Given the description of an element on the screen output the (x, y) to click on. 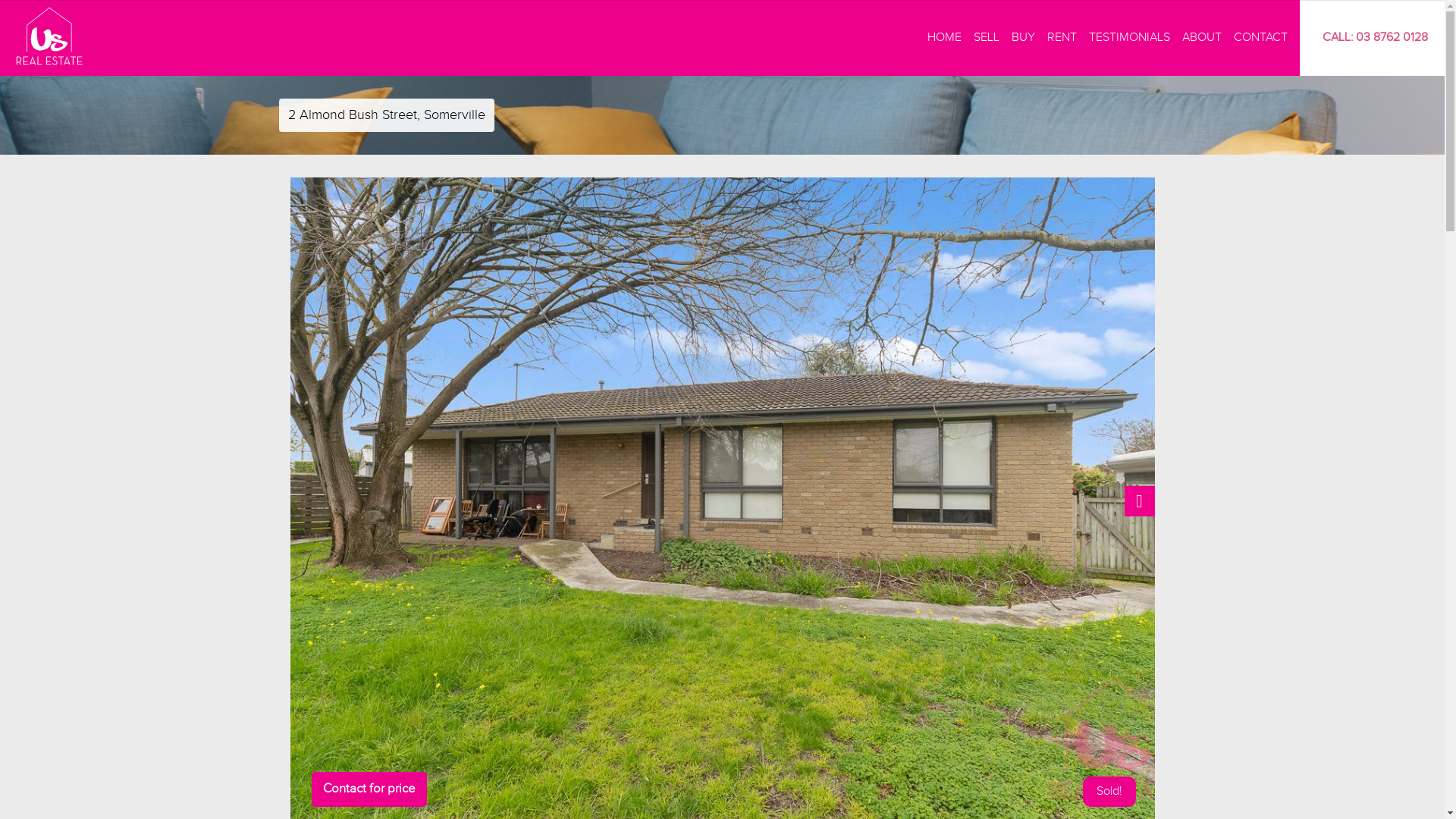
Sold! Element type: text (1108, 791)
TESTIMONIALS Element type: text (1129, 37)
SELL Element type: text (986, 37)
HOME Element type: text (944, 37)
CONTACT Element type: text (1260, 37)
Contact for price Element type: text (368, 788)
BUY Element type: text (1023, 37)
RENT Element type: text (1061, 37)
ABOUT Element type: text (1201, 37)
